Given the description of an element on the screen output the (x, y) to click on. 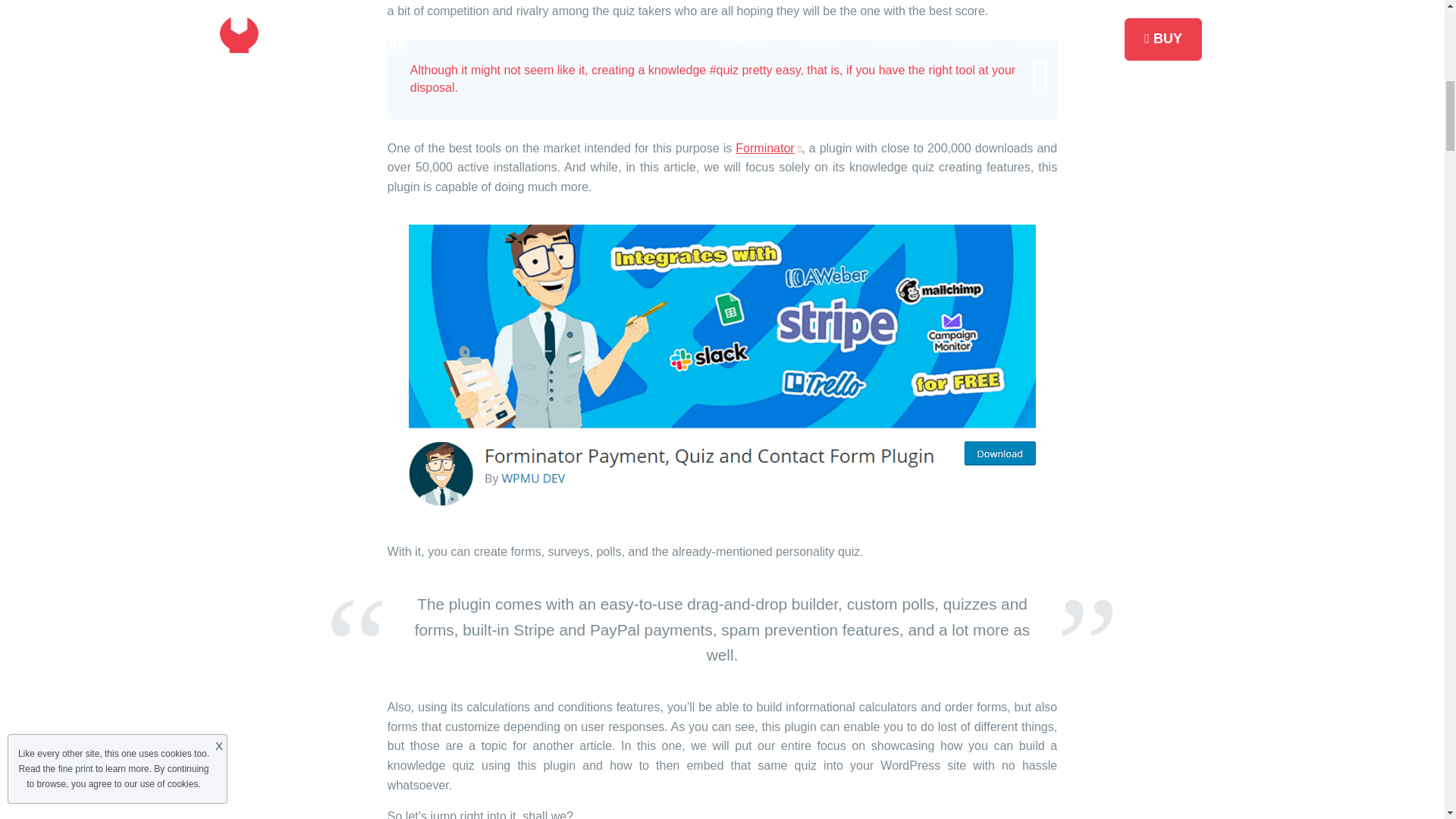
Click to tweet (722, 79)
Click to tweet (712, 78)
Forminator (768, 147)
